Given the description of an element on the screen output the (x, y) to click on. 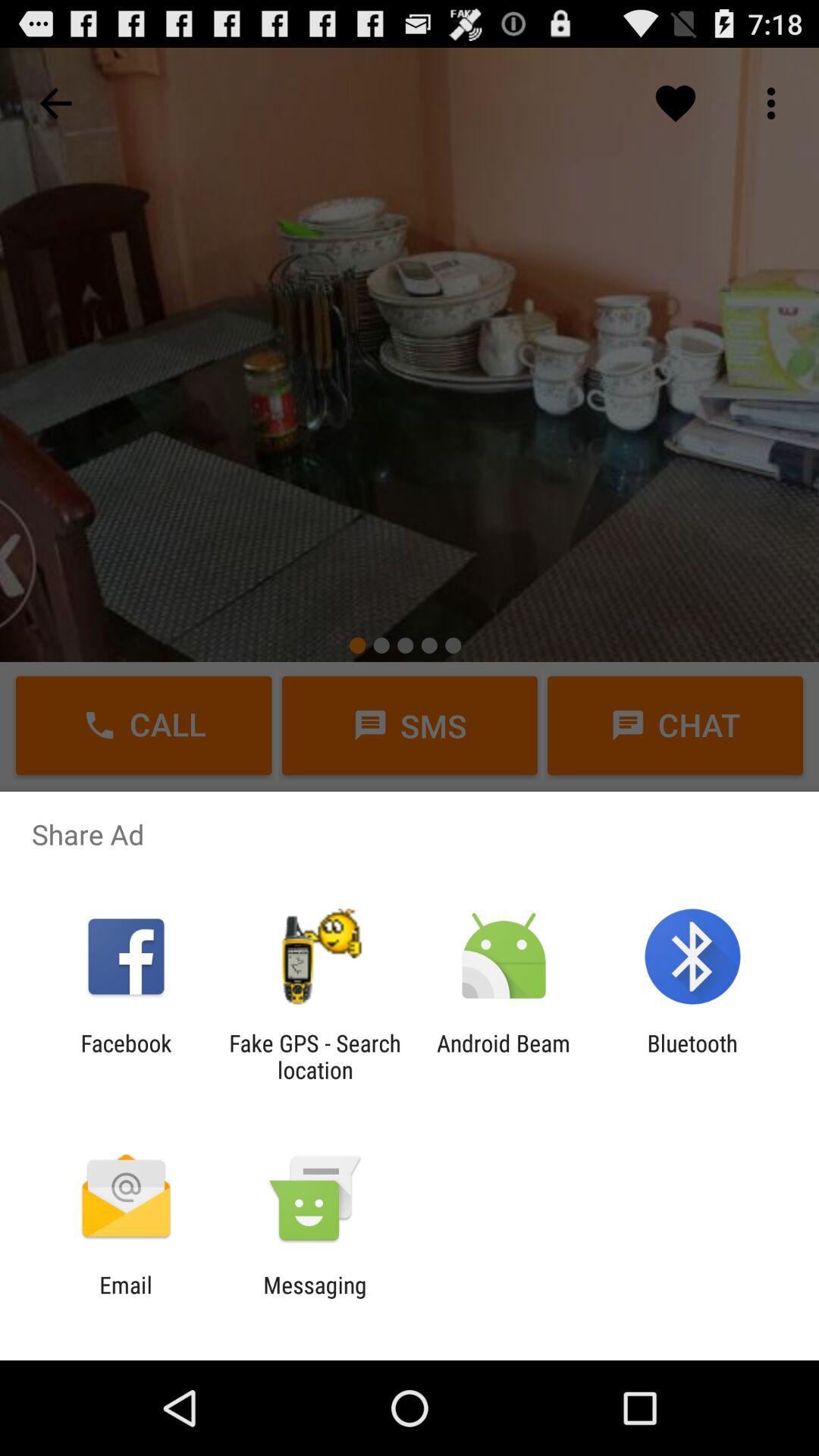
click icon next to android beam (314, 1056)
